Given the description of an element on the screen output the (x, y) to click on. 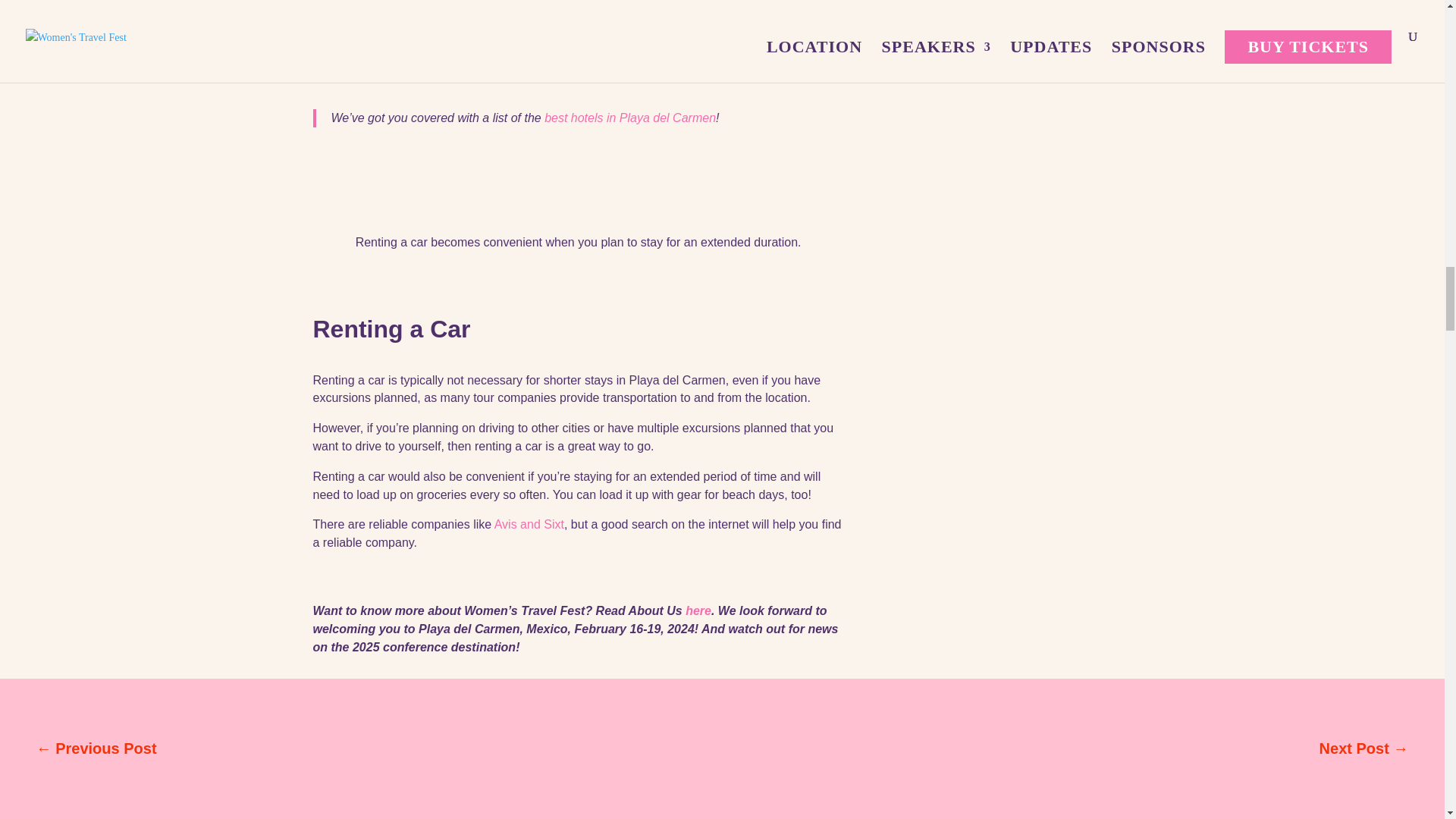
best hotels in Playa del Carmen (630, 117)
Avis and Sixt (529, 523)
BiciPlaya app (753, 4)
here (698, 610)
